Given the description of an element on the screen output the (x, y) to click on. 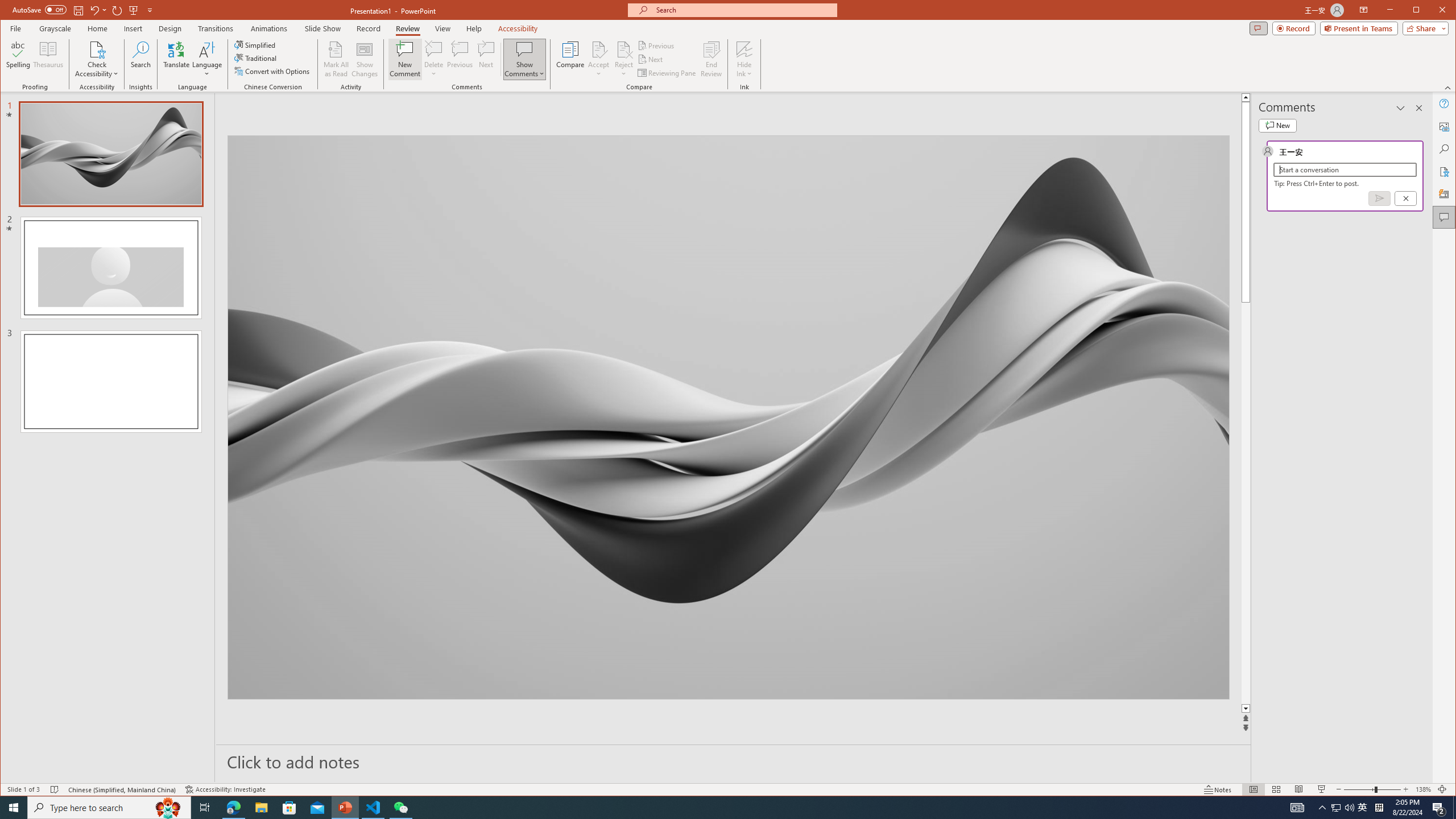
Running applications (707, 807)
Previous (657, 45)
Microsoft Edge - 1 running window (233, 807)
Cancel (1405, 197)
Compare (569, 59)
New comment (1277, 125)
